Given the description of an element on the screen output the (x, y) to click on. 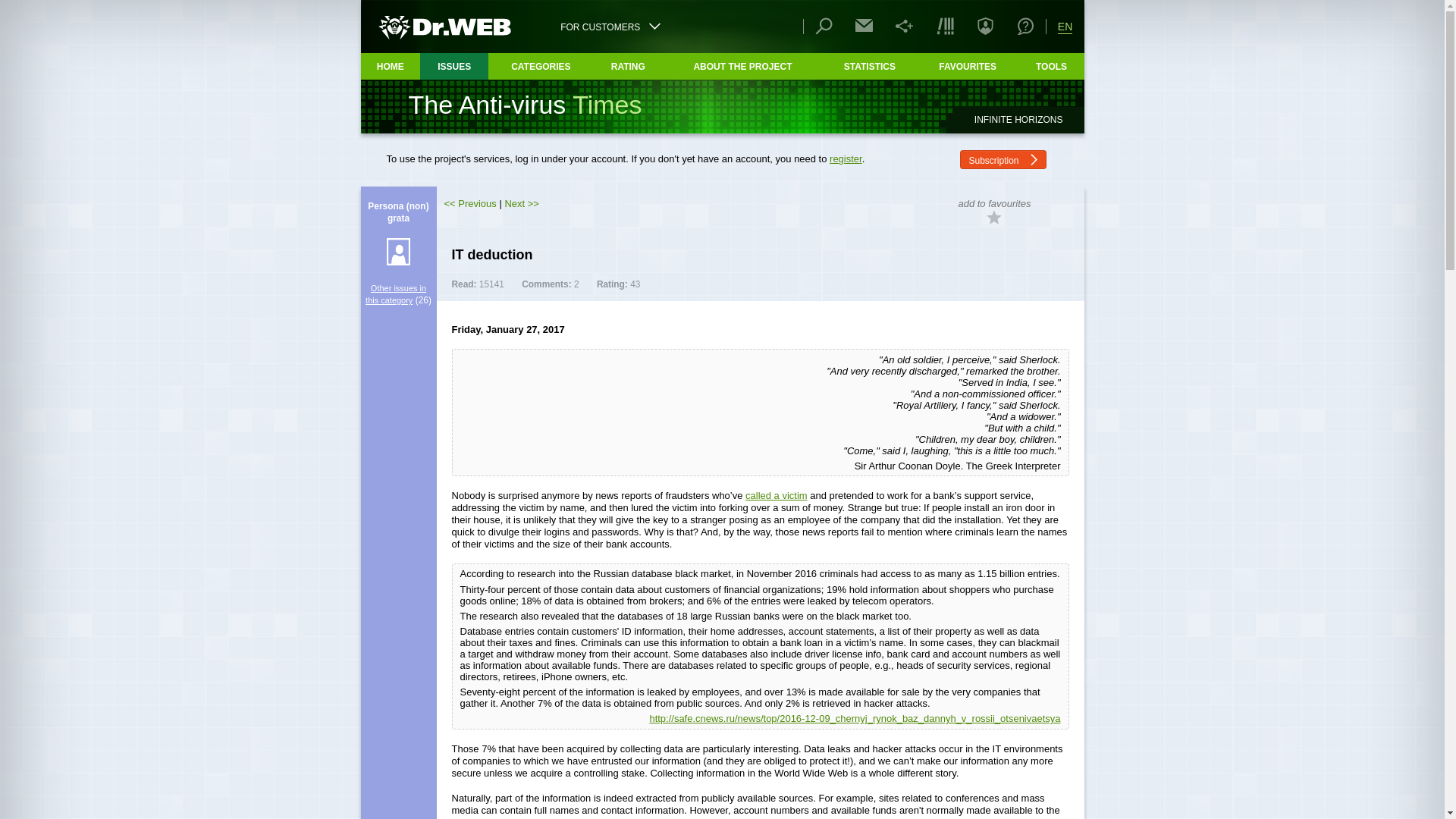
Add to Bookmarks (994, 216)
Shock therapy for the lazy and ignorant (520, 203)
FOR CUSTOMERS (609, 25)
Taming traffic gobblers (470, 203)
